Given the description of an element on the screen output the (x, y) to click on. 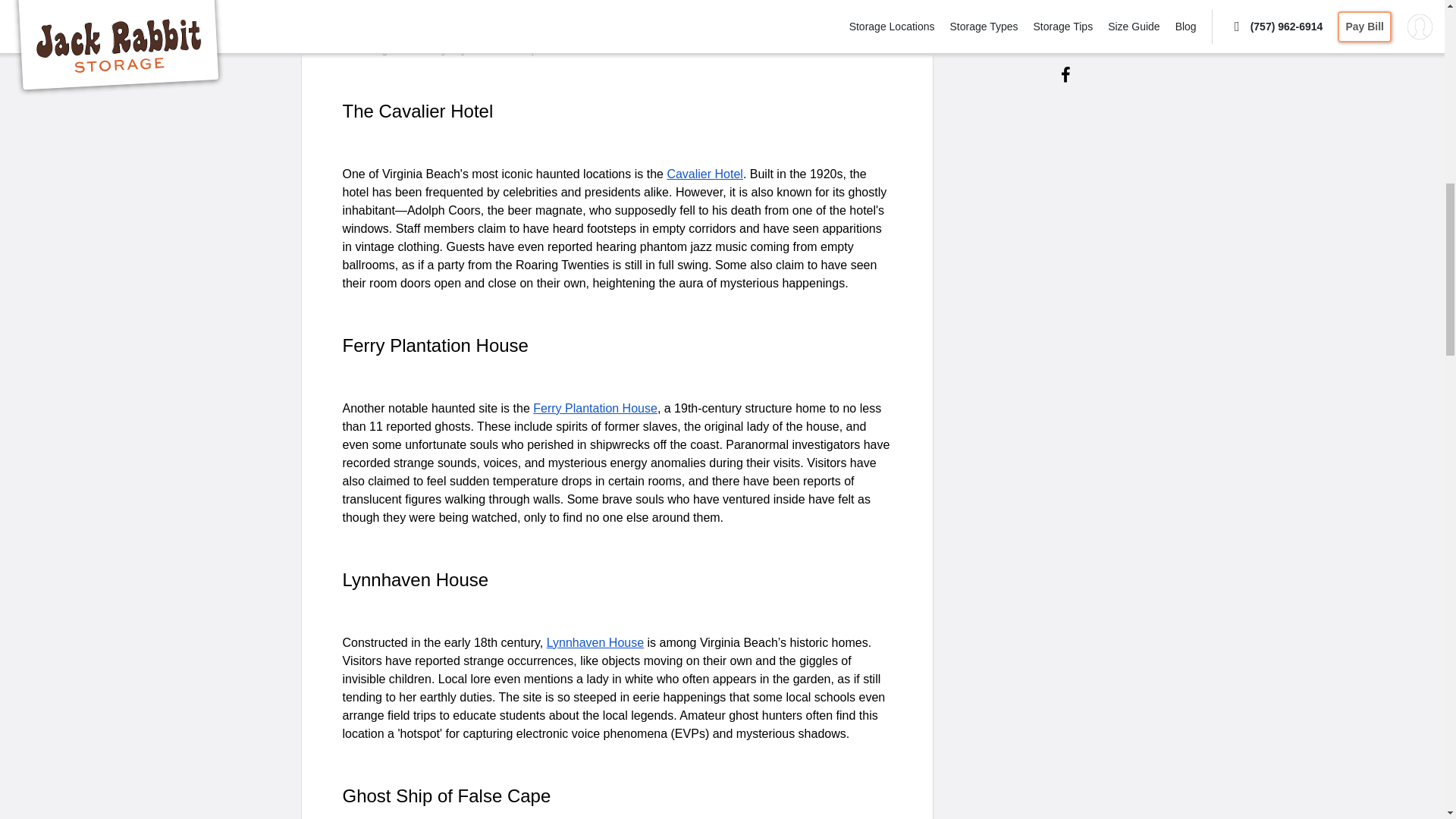
Cavalier Hotel (704, 173)
Ferry Plantation House (595, 408)
Lynnhaven House (595, 642)
